Given the description of an element on the screen output the (x, y) to click on. 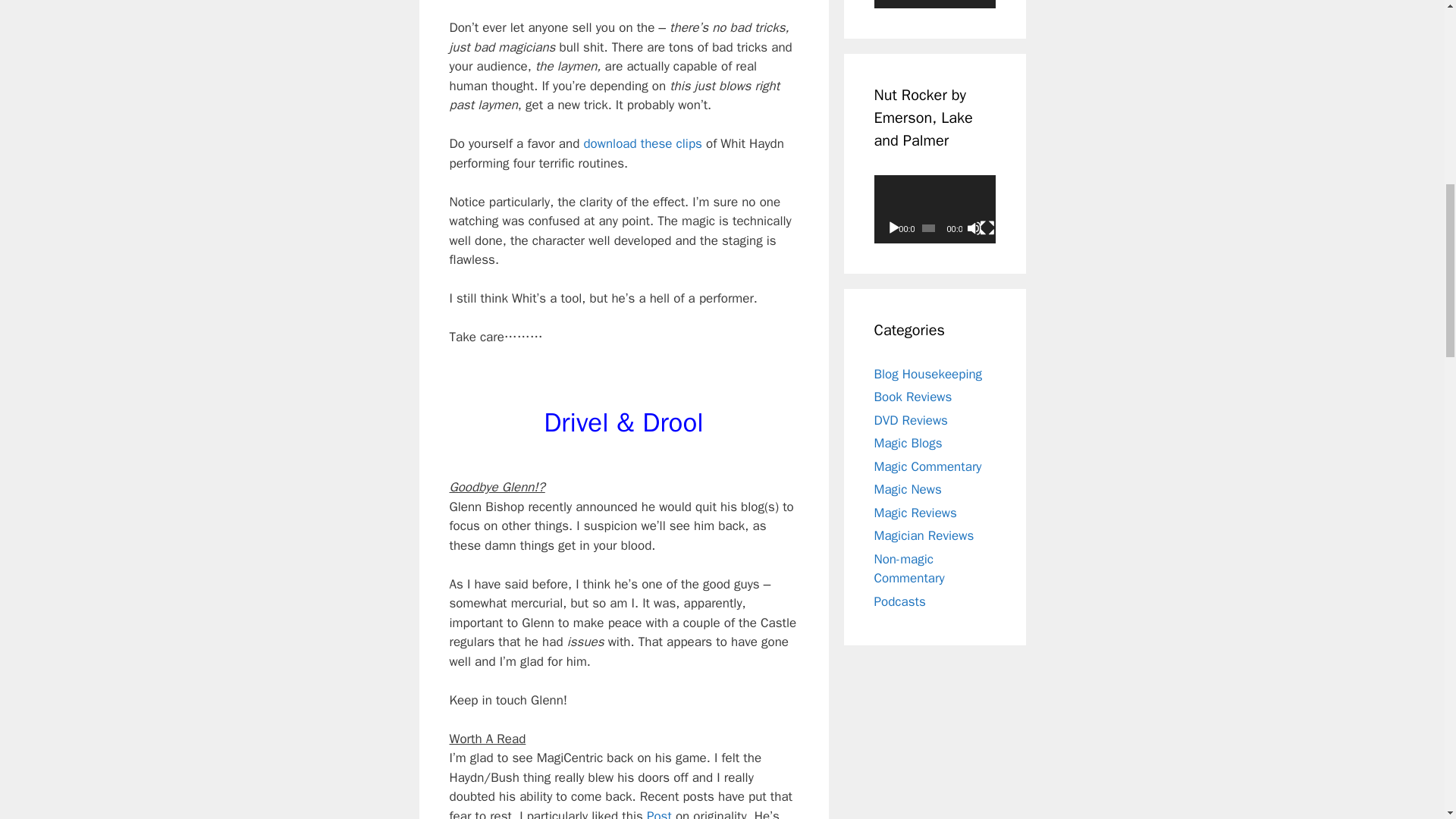
Fullscreen (986, 227)
DVD Reviews (910, 420)
Mute (973, 227)
Blog Housekeeping (927, 374)
Post (660, 813)
Book Reviews (912, 396)
Play (893, 227)
download these clips (644, 143)
